Given the description of an element on the screen output the (x, y) to click on. 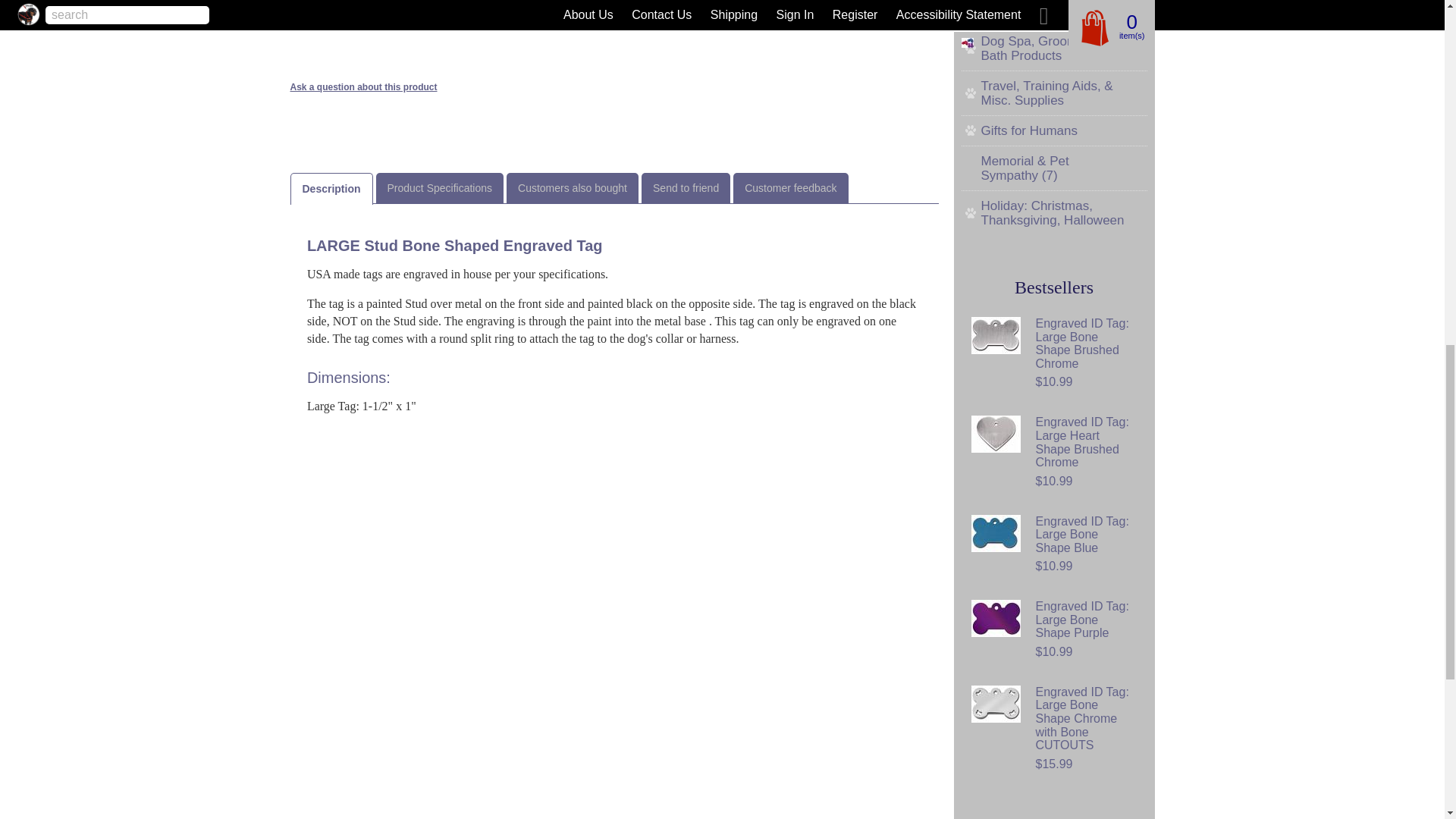
Ask a question about this product (362, 86)
Add to cart (597, 8)
Send to friend (686, 187)
Engraved ID Tag:  Large Heart Shape Brushed Chrome (995, 433)
Product Specifications (439, 187)
Engraved ID Tag:  Large Bone Shape Brushed Chrome (995, 334)
Ask a question about this product (362, 86)
Customers also bought (572, 187)
Customer feedback (790, 187)
Add to cart (597, 8)
Description (331, 188)
